Given the description of an element on the screen output the (x, y) to click on. 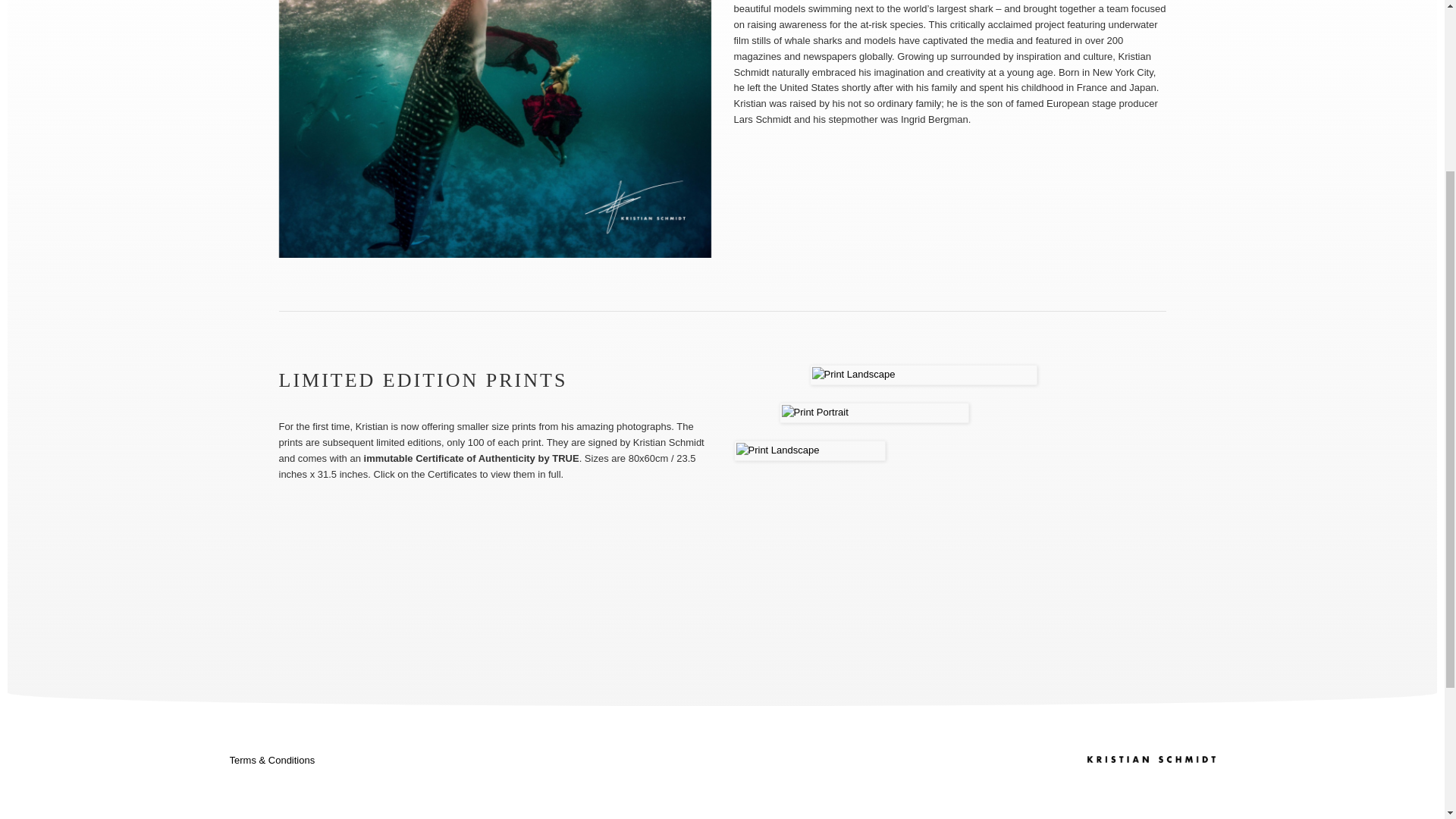
Visit TRUE (722, 528)
